Given the description of an element on the screen output the (x, y) to click on. 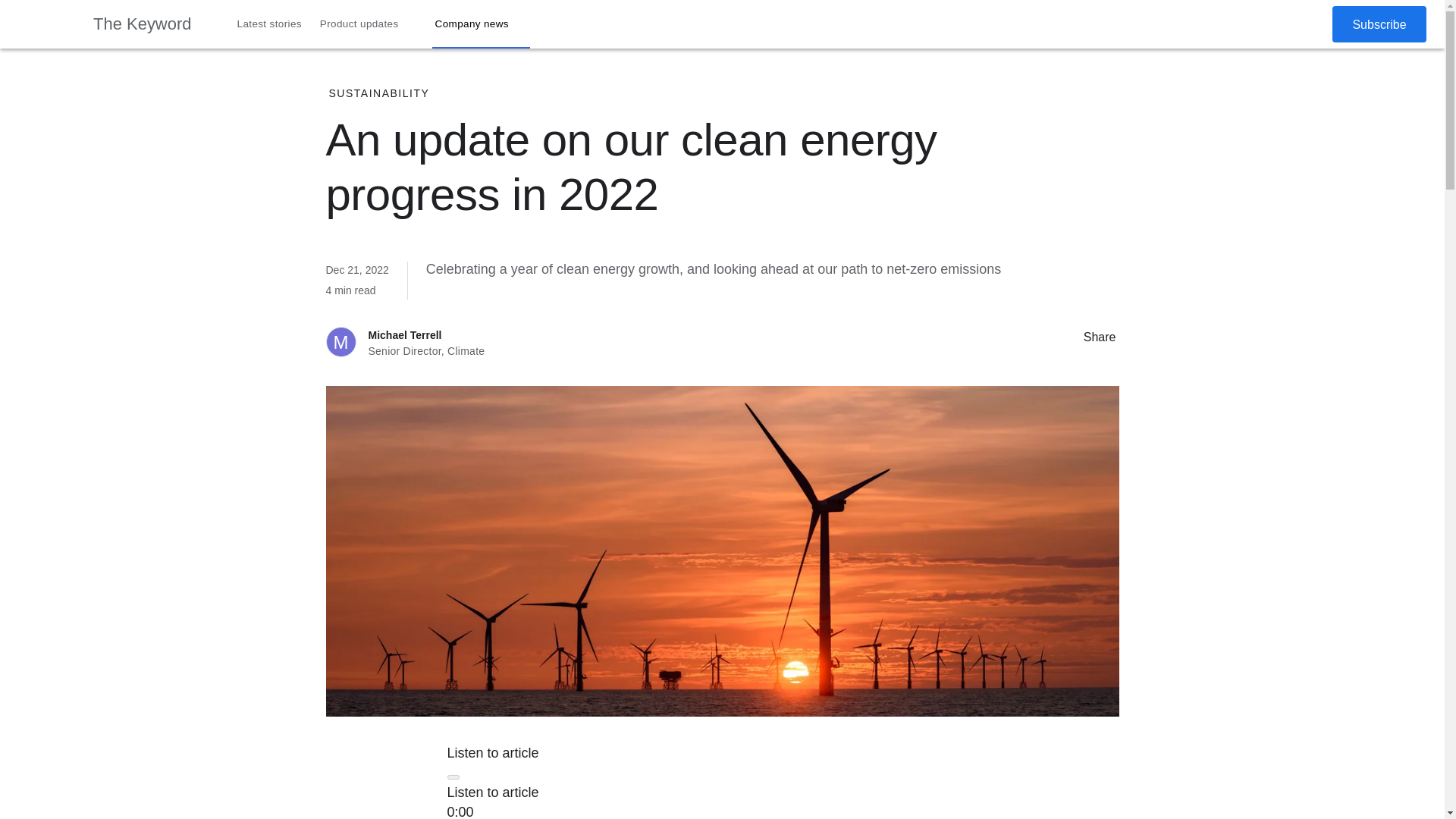
Product updates (368, 24)
Latest stories (269, 24)
Share (1068, 336)
Secondary menu (1307, 23)
Google (46, 24)
Search (1274, 23)
The Keyword (142, 24)
